Given the description of an element on the screen output the (x, y) to click on. 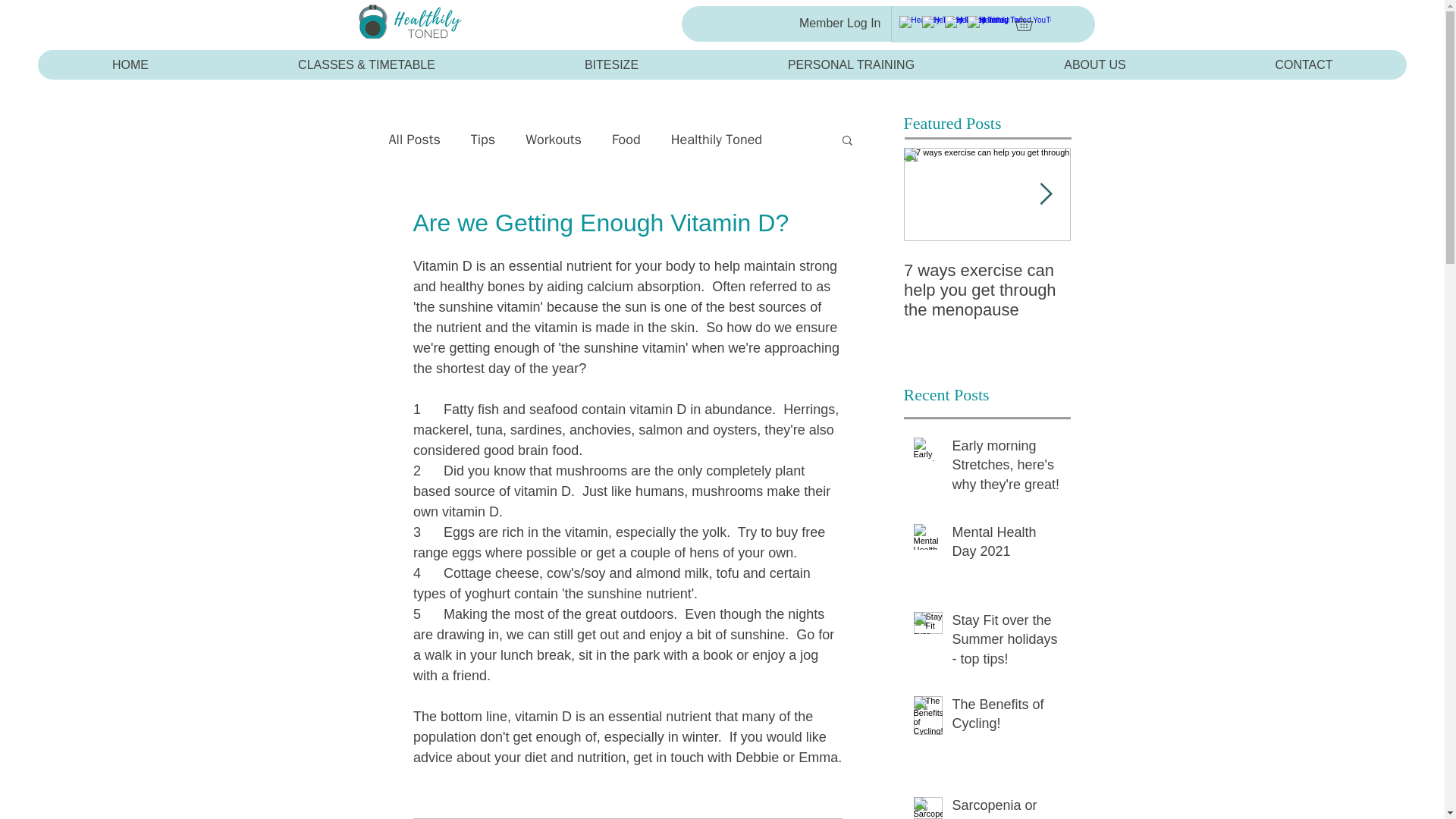
CONTACT (1302, 64)
PERSONAL TRAINING (850, 64)
Food (625, 139)
Workouts (552, 139)
Member Log In (840, 23)
HOME (129, 64)
7 ways exercise can help you get through the menopause (987, 290)
Tips (482, 139)
Healthily Toned (716, 139)
ABOUT US (1093, 64)
